Given the description of an element on the screen output the (x, y) to click on. 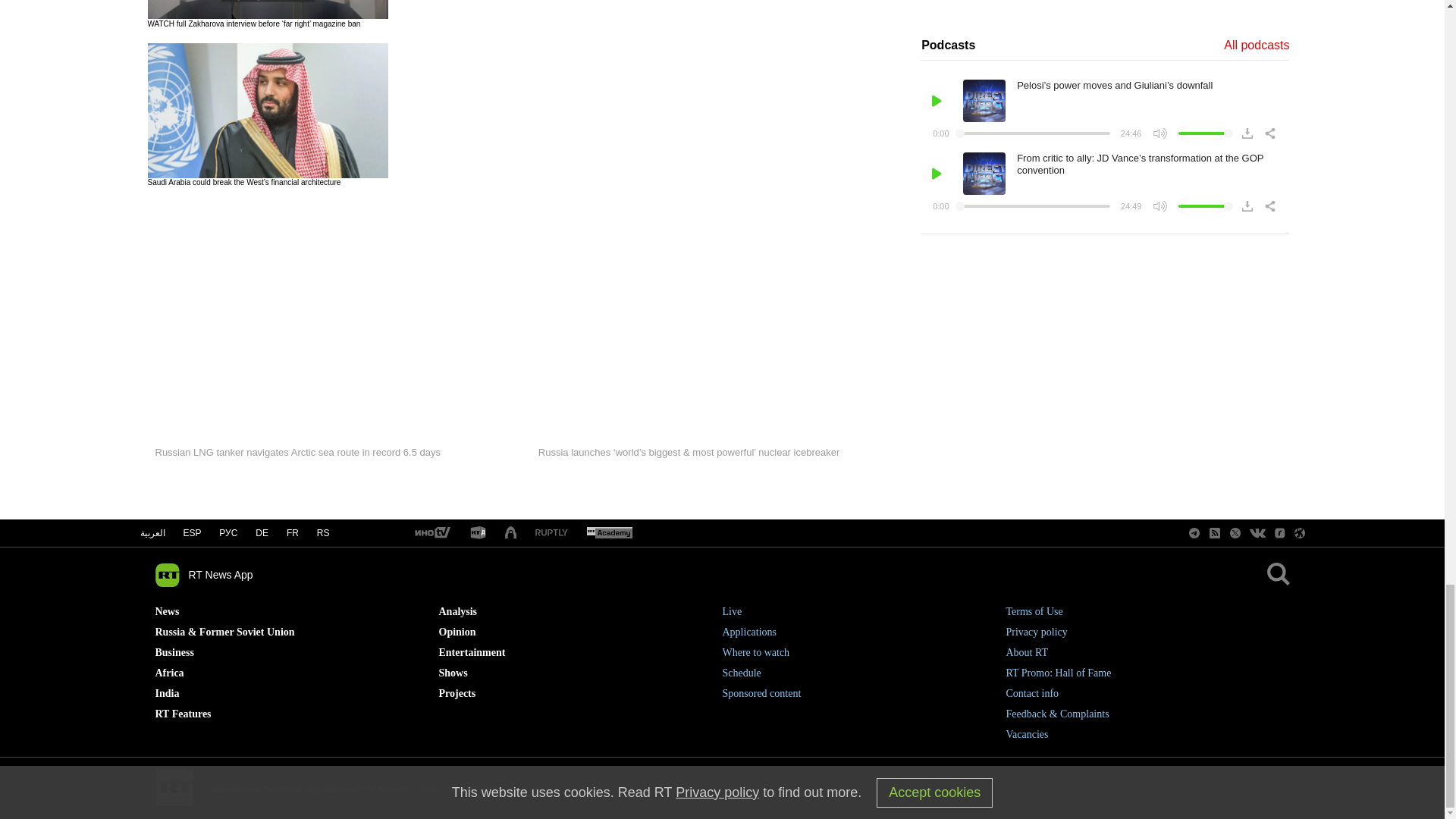
RT  (431, 533)
RT  (608, 533)
RT  (551, 533)
RT  (478, 533)
